Given the description of an element on the screen output the (x, y) to click on. 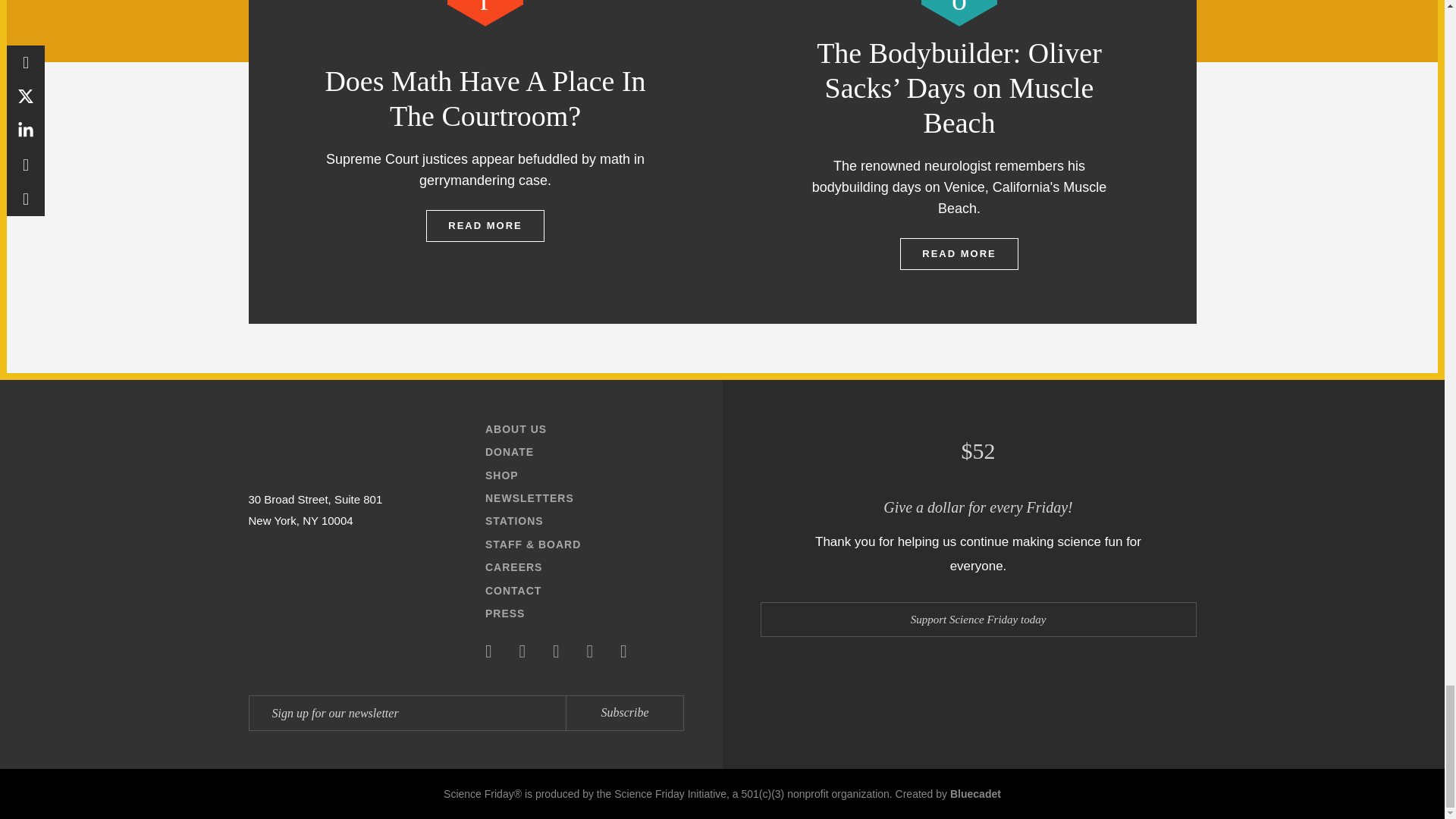
Segment (484, 13)
Read More (484, 225)
Subscribe (624, 713)
